Given the description of an element on the screen output the (x, y) to click on. 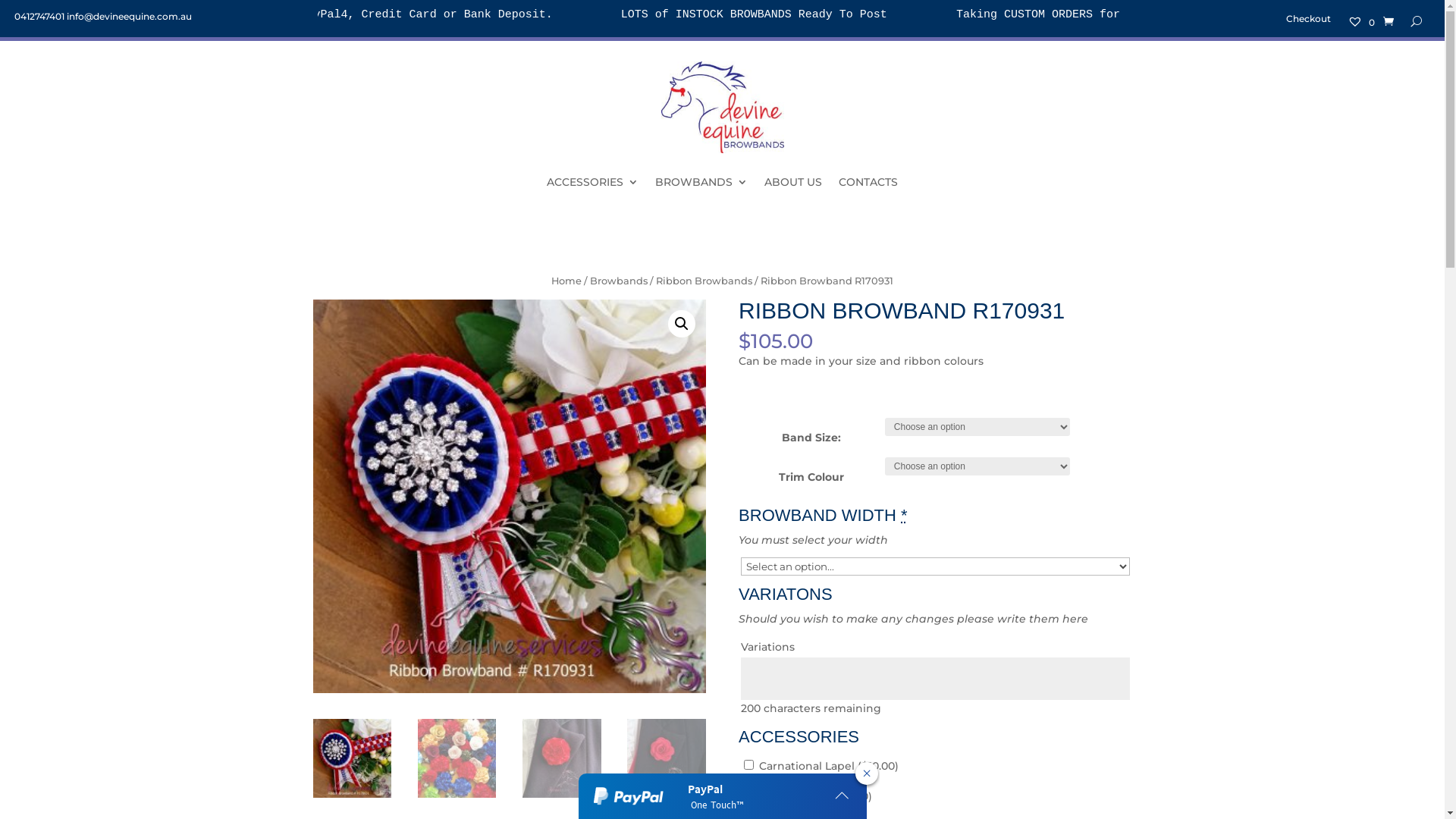
R170931b Element type: hover (508, 495)
CONTACTS Element type: text (867, 181)
ACCESSORIES Element type: text (592, 181)
Browbands Element type: text (618, 280)
Home Element type: text (566, 280)
info@devineequine.com.au Element type: text (128, 15)
0412747401 Element type: text (39, 15)
BROWBANDS Element type: text (701, 181)
Ribbon Browbands Element type: text (703, 280)
ABOUT US Element type: text (793, 181)
Checkout Element type: text (1308, 23)
0 Element type: text (1360, 23)
